Given the description of an element on the screen output the (x, y) to click on. 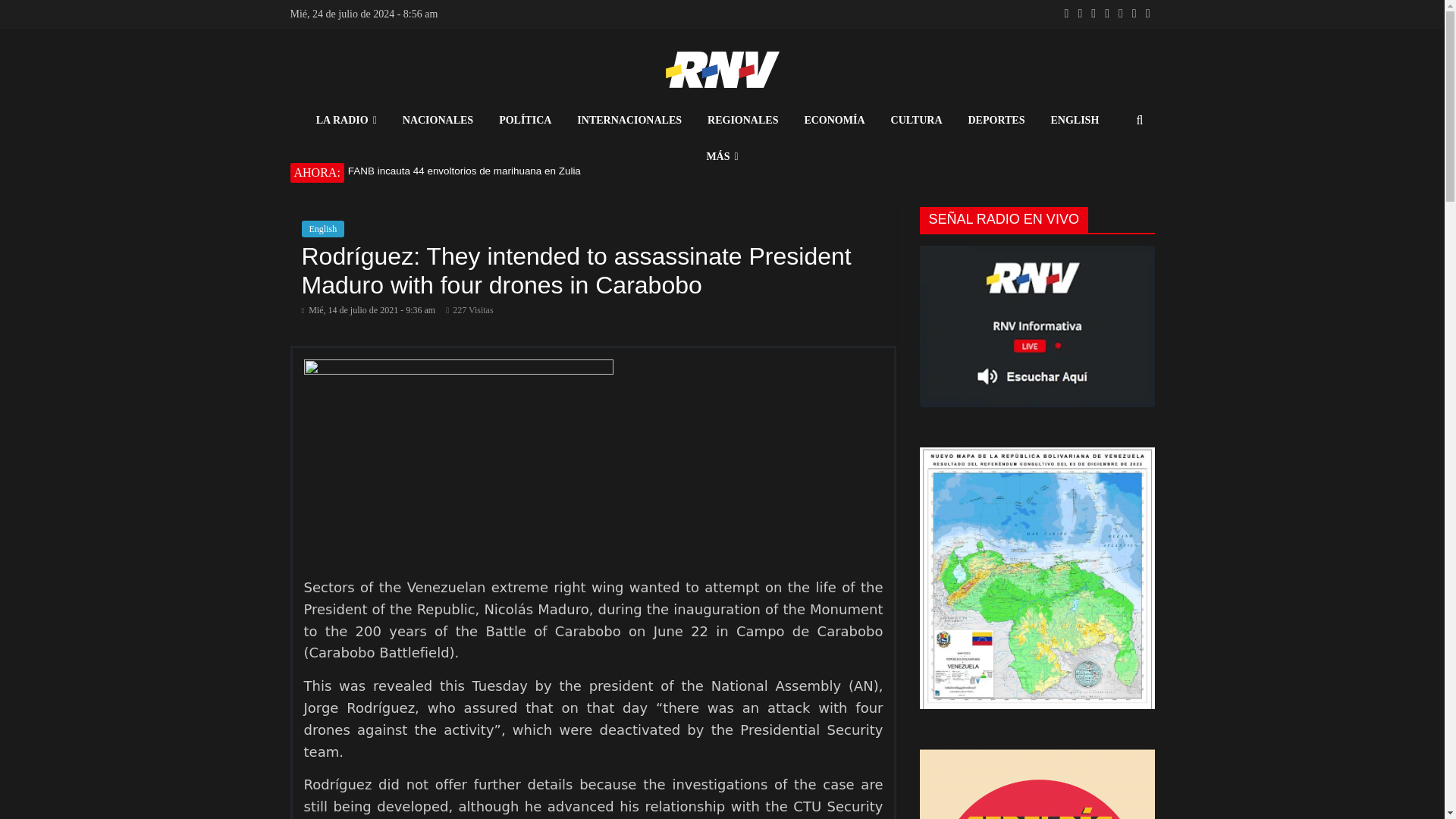
LA RADIO (346, 121)
ENGLISH (1074, 121)
INTERNACIONALES (628, 121)
FANB incauta 44 envoltorios de marihuana en Zulia (569, 170)
NACIONALES (438, 121)
CULTURA (916, 121)
09:36 (368, 309)
REGIONALES (742, 121)
DEPORTES (996, 121)
